Given the description of an element on the screen output the (x, y) to click on. 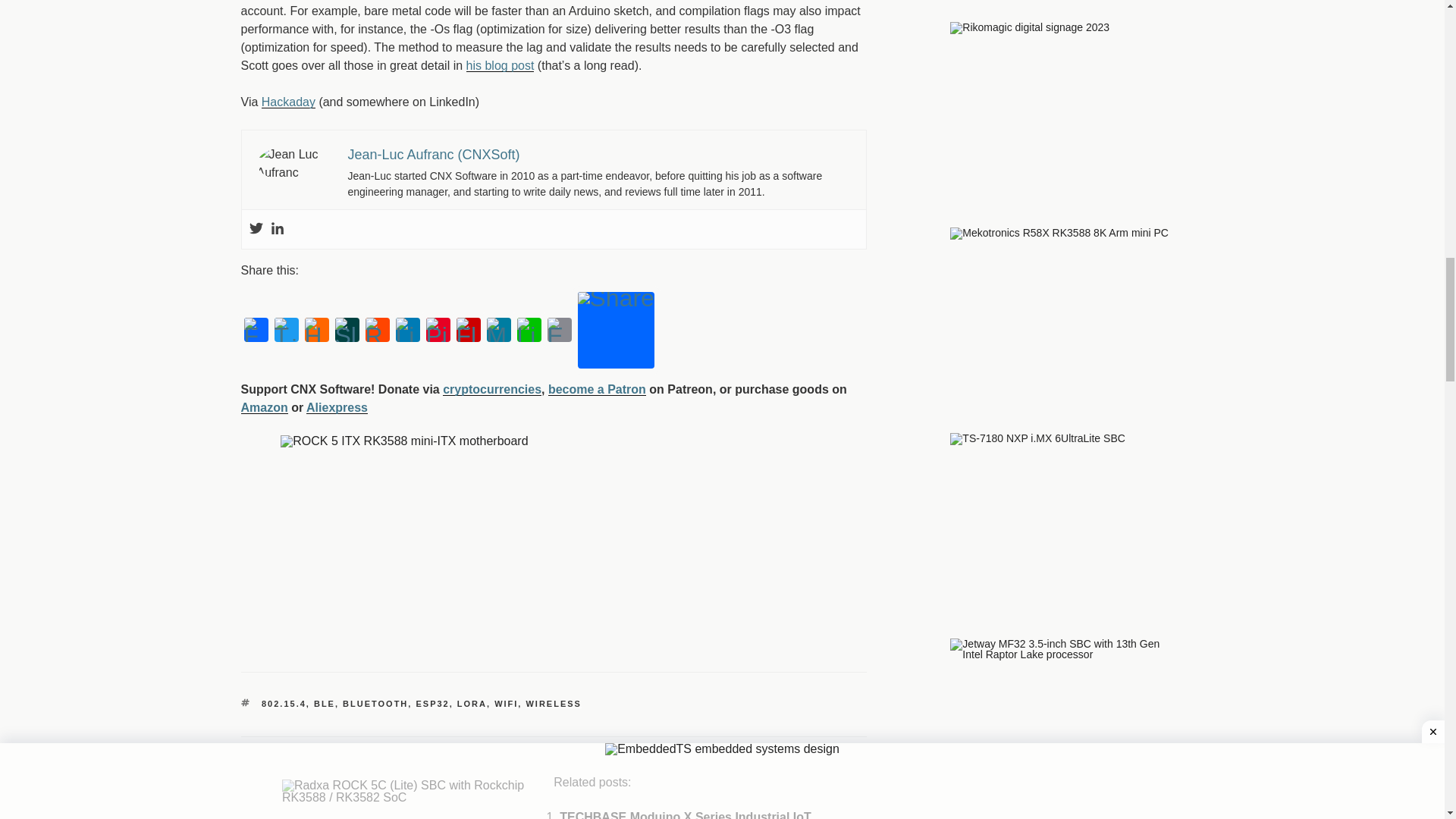
Twitter (285, 329)
Slashdot (346, 329)
Reddit (377, 329)
Facebook (255, 329)
Hacker News (316, 329)
